Given the description of an element on the screen output the (x, y) to click on. 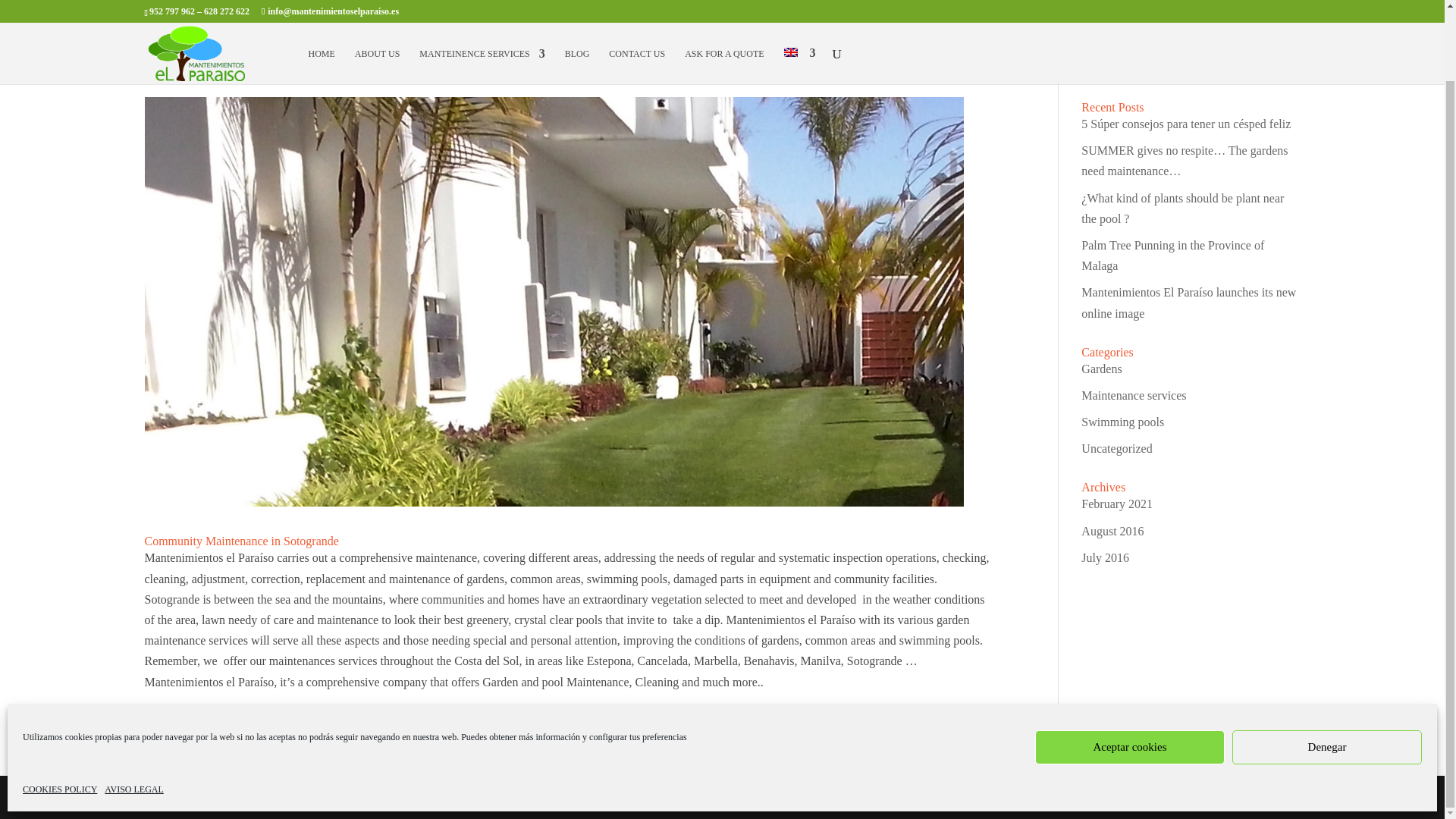
Search (1277, 63)
MANTEINENCE SERVICES (481, 2)
HOME (320, 2)
Aceptar cookies (1129, 668)
ASK FOR A QUOTE (723, 2)
AVISO LEGAL (133, 711)
Denegar (1326, 668)
ABOUT US (376, 2)
COOKIES POLICY (60, 711)
BLOG (576, 2)
CONTACT US (636, 2)
